Given the description of an element on the screen output the (x, y) to click on. 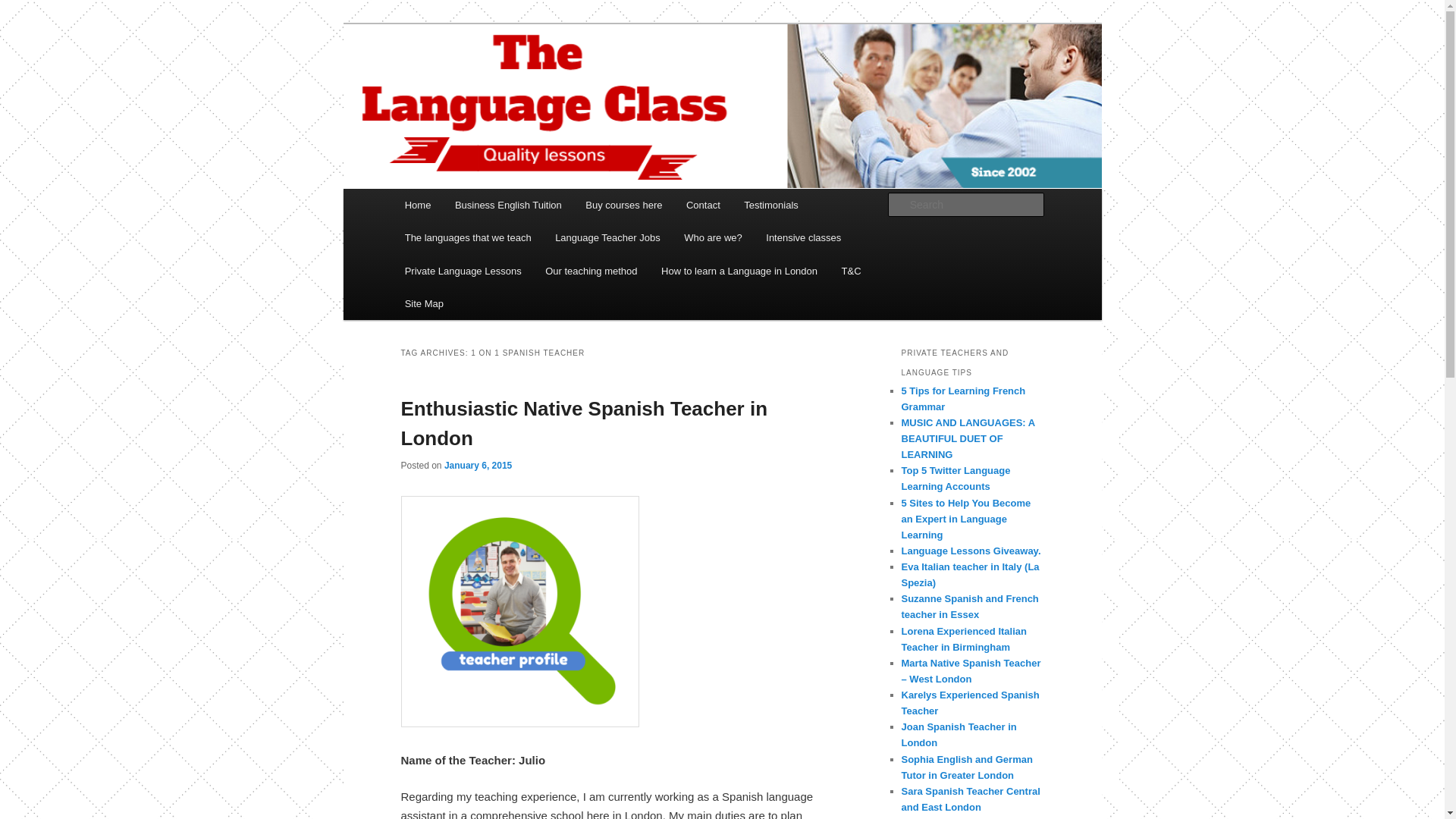
Our teaching method (590, 270)
Home (417, 205)
Enthusiastic Native Spanish Teacher in London (583, 423)
12:57 pm (478, 465)
Intensive classes (803, 237)
Private Language Lessons (462, 270)
Buy courses here (624, 205)
January 6, 2015 (478, 465)
Business English Tuition (507, 205)
Top 5 Twitter Language Learning Accounts (955, 478)
The Language Class London (555, 78)
Site Map (424, 303)
5 Tips for Learning French Grammar (963, 398)
Search (24, 8)
